Given the description of an element on the screen output the (x, y) to click on. 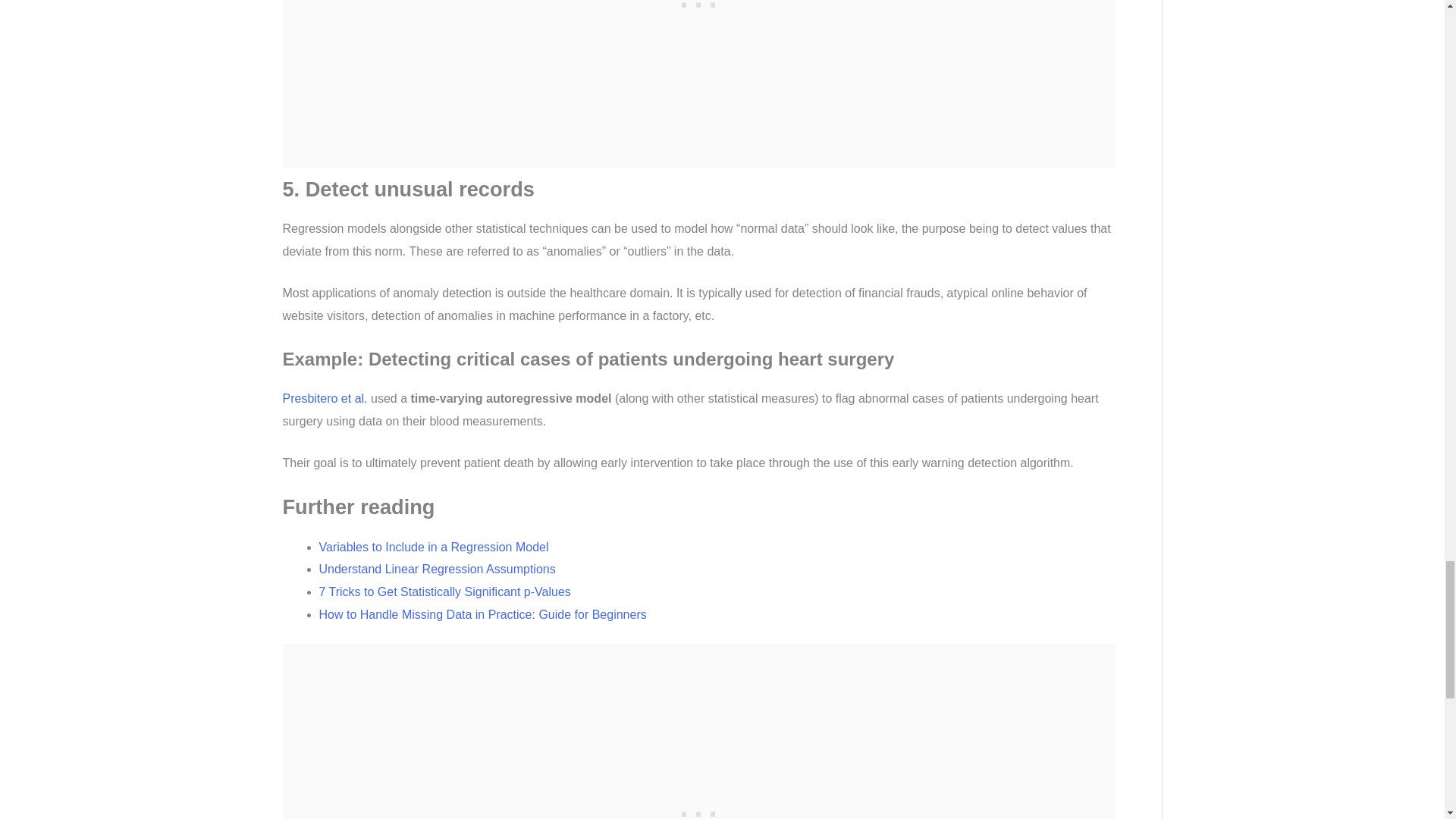
How to Handle Missing Data in Practice: Guide for Beginners (482, 614)
Presbitero et al. (324, 398)
Variables to Include in a Regression Model (433, 546)
7 Tricks to Get Statistically Significant p-Values (444, 591)
Understand Linear Regression Assumptions (436, 568)
